Given the description of an element on the screen output the (x, y) to click on. 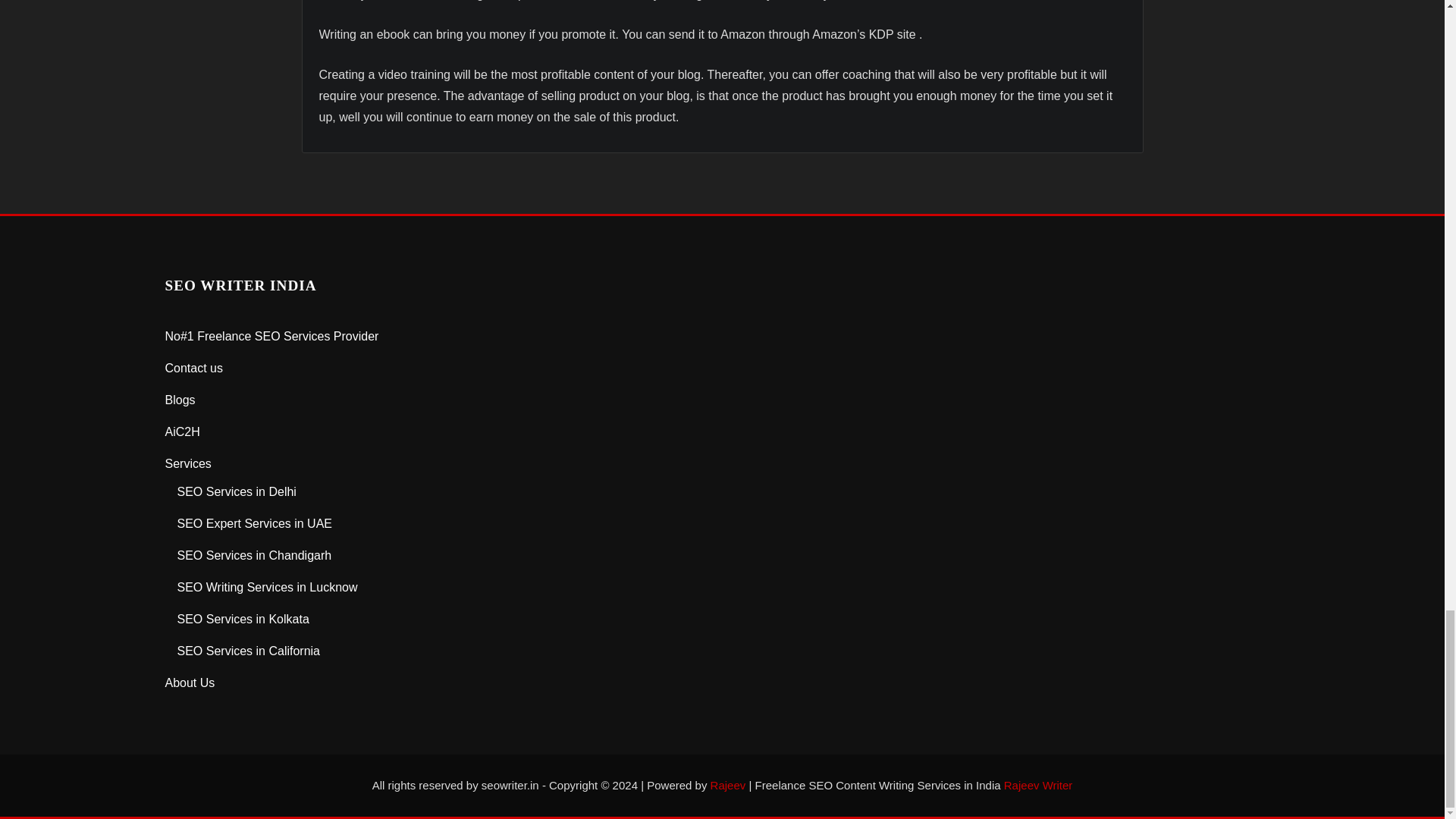
About Us (190, 682)
SEO Services in Delhi (237, 491)
SEO Services in Chandigarh (254, 554)
SEO Writing Services in Lucknow (267, 586)
SEO Services in Kolkata (242, 618)
Services (188, 463)
Rajeev (727, 784)
Contact us (193, 367)
SEO Expert Services in UAE (255, 522)
SEO Services in California (248, 650)
Blogs (180, 399)
AiC2H (182, 431)
Rajeev Writer (1038, 784)
